Given the description of an element on the screen output the (x, y) to click on. 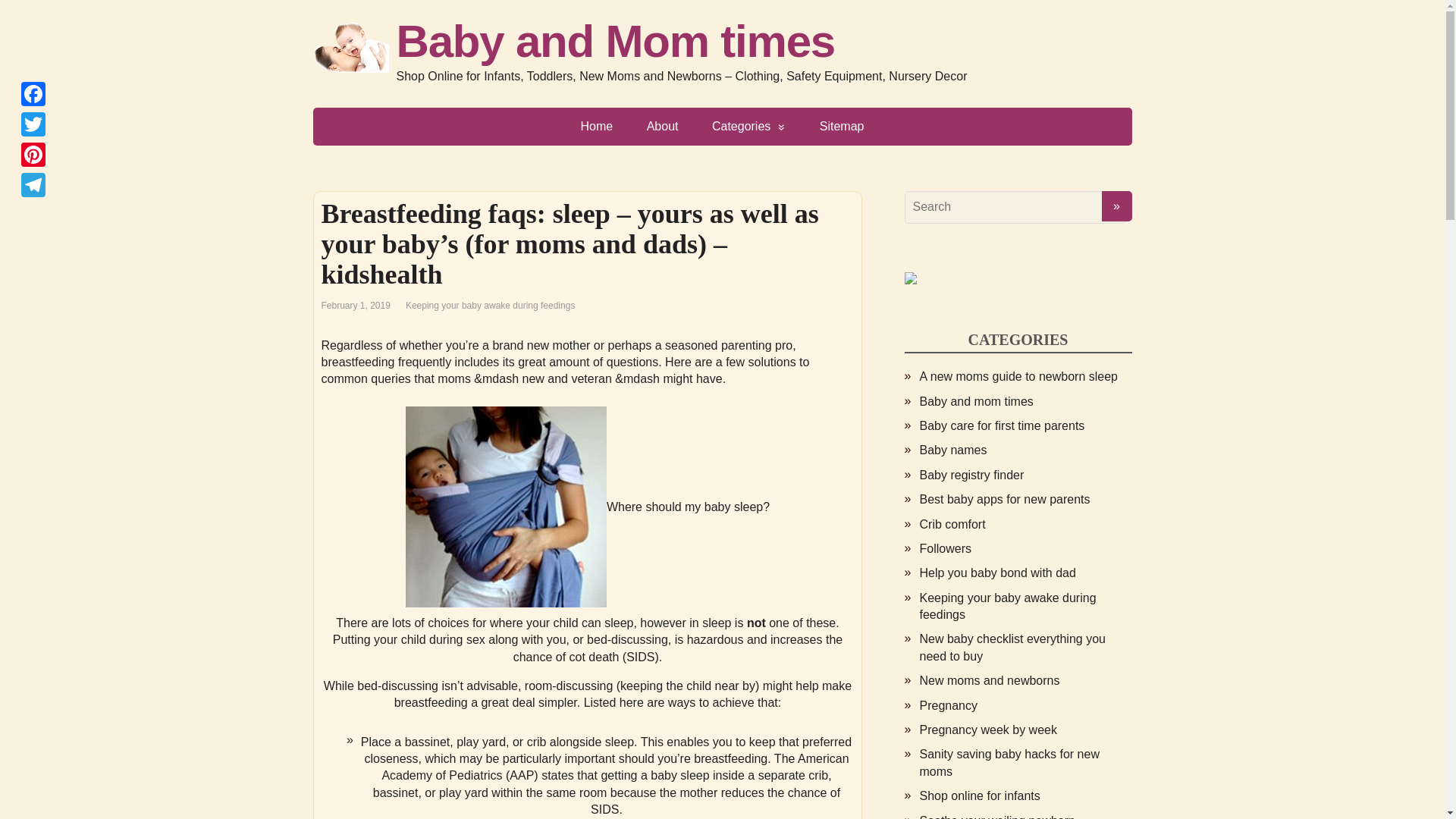
Sitemap (842, 126)
Keeping your baby awake during feedings (490, 305)
Followers (944, 548)
Twitter (32, 123)
Telegram (32, 184)
About (662, 126)
Categories (748, 126)
Baby and Mom times (722, 41)
A new moms guide to newborn sleep (1017, 376)
Baby and mom times (975, 400)
